Given the description of an element on the screen output the (x, y) to click on. 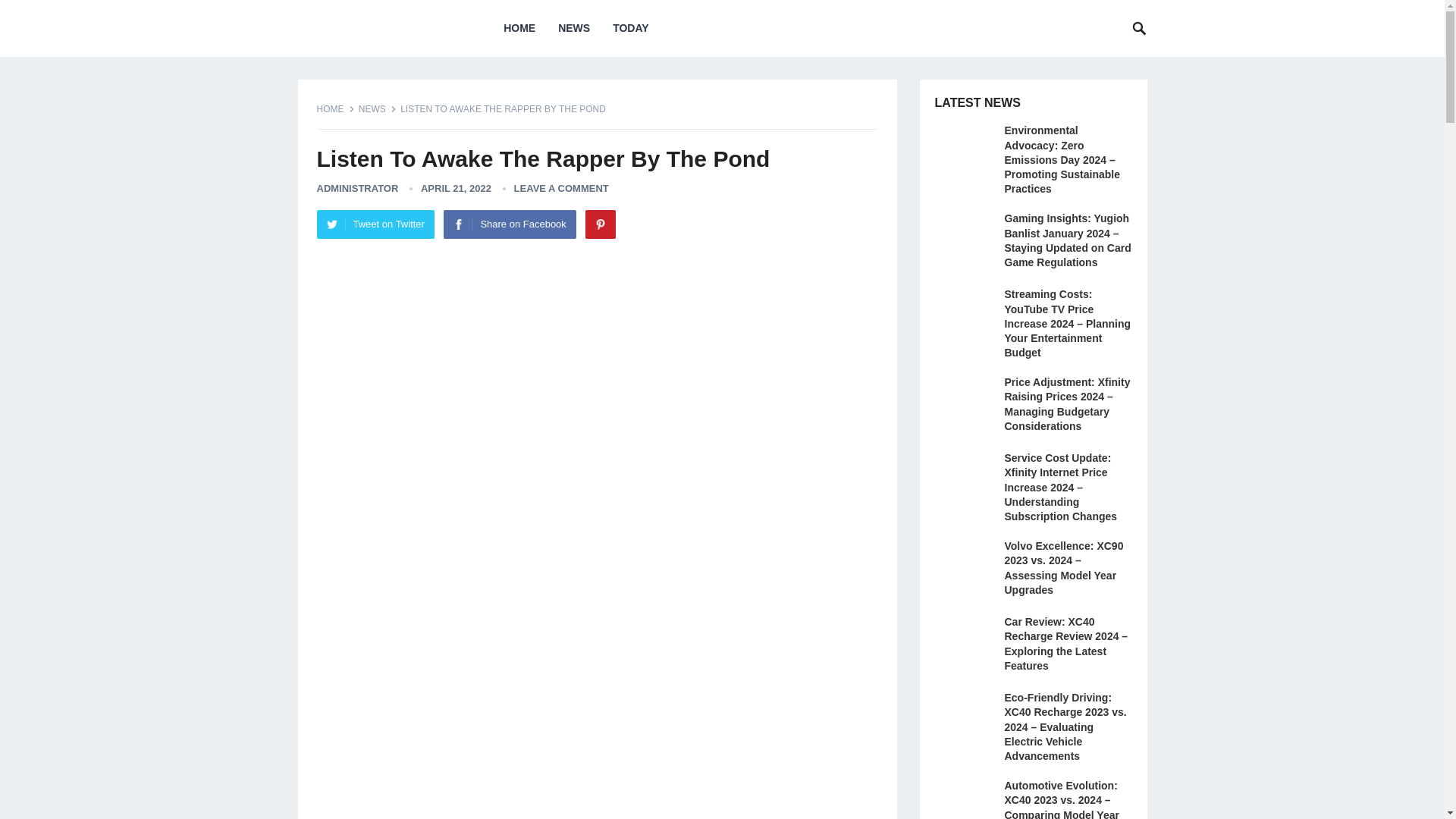
NEWS (377, 109)
HOME (336, 109)
Advertisement (597, 363)
LEAVE A COMMENT (560, 188)
View all posts in News (377, 109)
HOME (519, 28)
Share on Facebook (509, 224)
ADMINISTRATOR (357, 188)
Posts by administrator (357, 188)
